Given the description of an element on the screen output the (x, y) to click on. 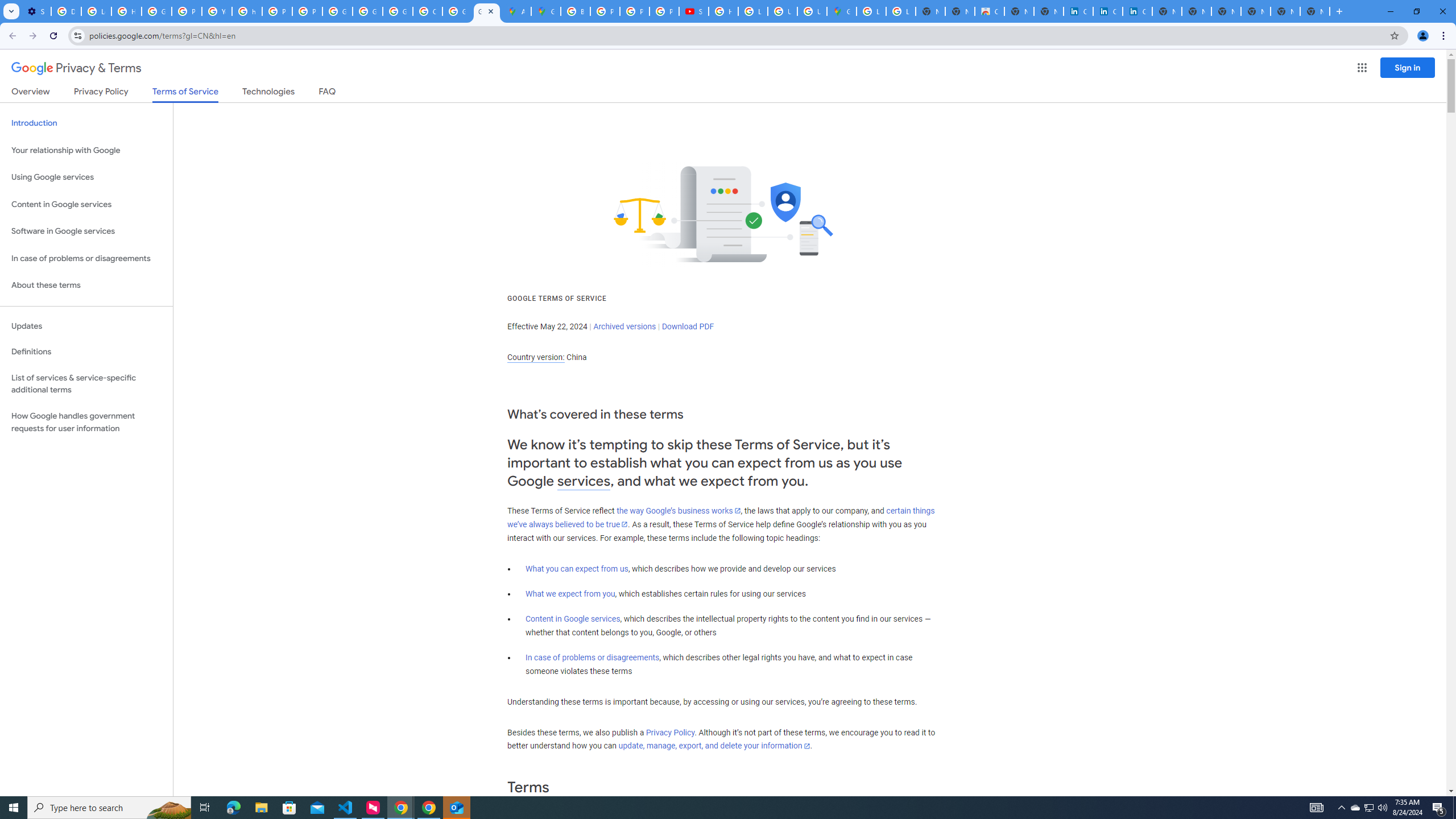
Privacy Help Center - Policies Help (604, 11)
Technologies (268, 93)
What we expect from you (570, 593)
Privacy & Terms (76, 68)
Delete photos & videos - Computer - Google Photos Help (65, 11)
About these terms (86, 284)
Cookie Policy | LinkedIn (1107, 11)
FAQ (327, 93)
